Given the description of an element on the screen output the (x, y) to click on. 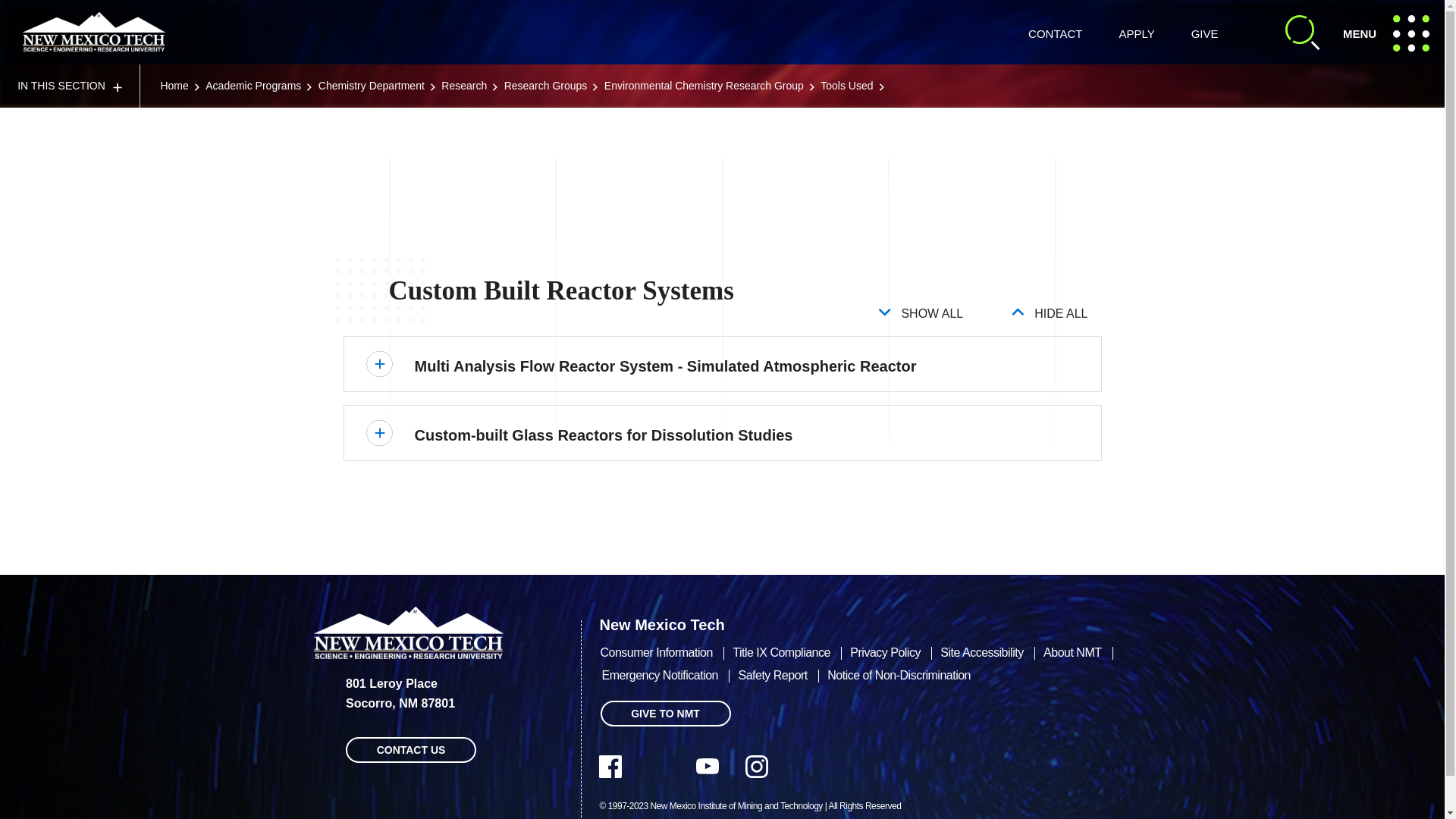
Research Groups (545, 85)
New Mexico Tech - Home (94, 32)
Research (463, 85)
expand search (1303, 32)
APPLY (1135, 33)
Chemistry Department (371, 85)
IN THIS SECTION (69, 85)
Home (1391, 32)
CONTACT (173, 85)
